Given the description of an element on the screen output the (x, y) to click on. 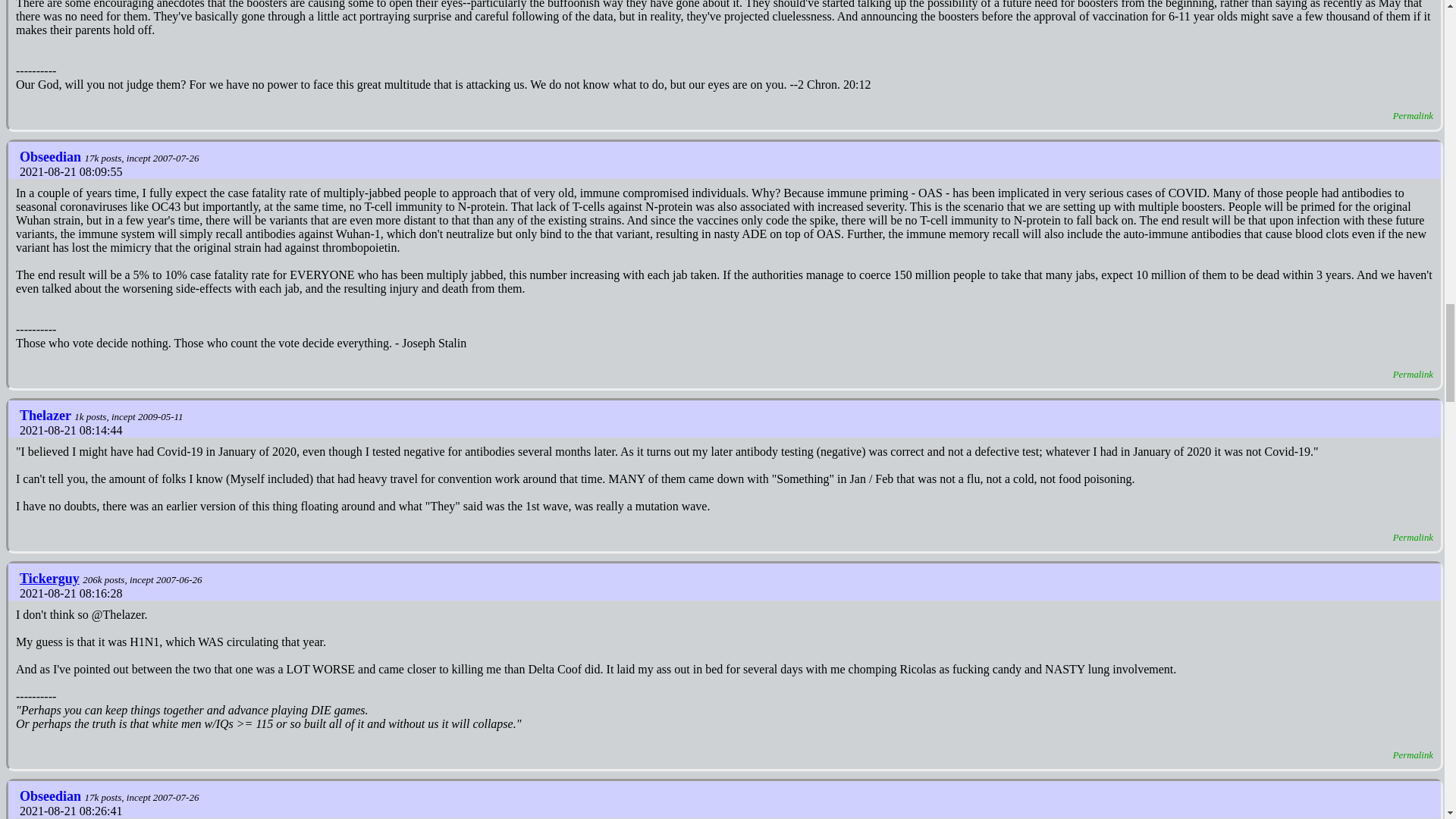
Logged in (51, 578)
